Given the description of an element on the screen output the (x, y) to click on. 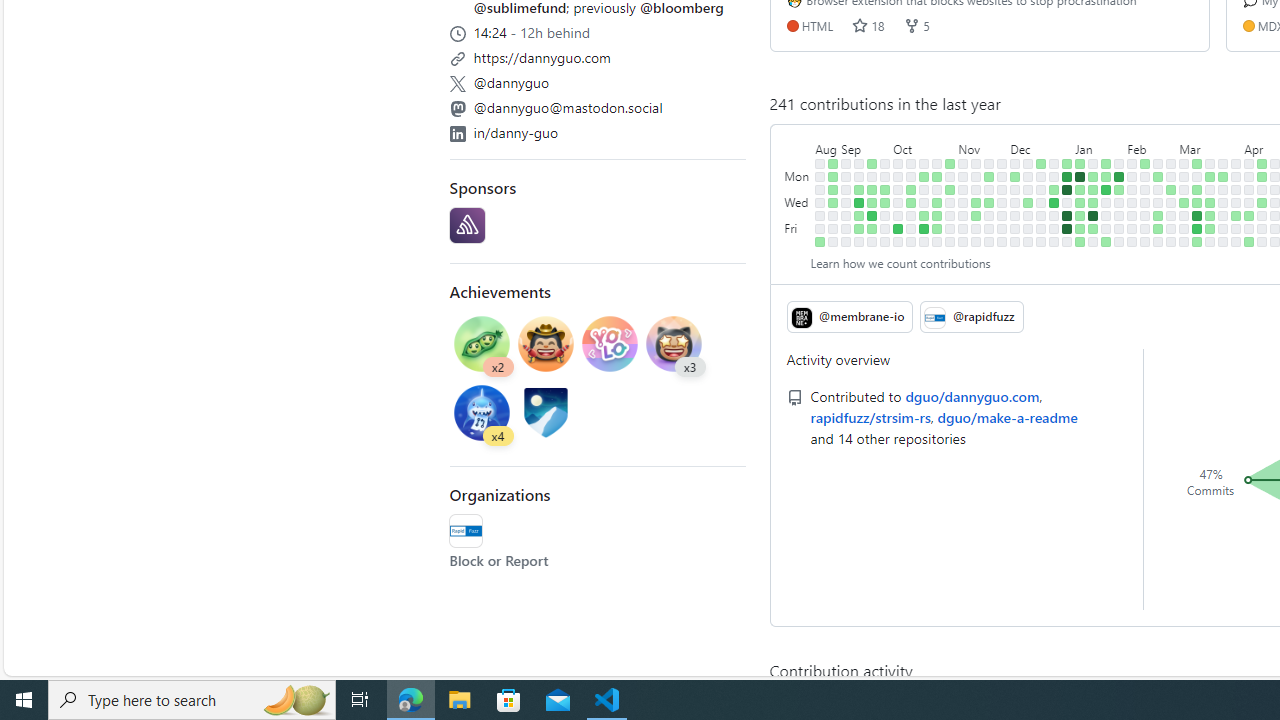
No contributions on February 28th. (1171, 202)
No contributions on November 12th. (976, 163)
No contributions on December 6th. (1015, 202)
No contributions on March 29th. (1223, 228)
No contributions on October 28th. (937, 241)
No contributions on March 4th. (1184, 176)
No contributions on October 7th. (898, 241)
No contributions on March 9th. (1184, 241)
1 contribution on October 29th. (950, 163)
No contributions on March 26th. (1223, 189)
2 contributions on March 12th. (1197, 189)
rapidfuzz/strsim-rs (870, 416)
2 contributions on April 15th. (1262, 176)
3 contributions on August 28th. (833, 176)
No contributions on October 24th. (937, 189)
